Given the description of an element on the screen output the (x, y) to click on. 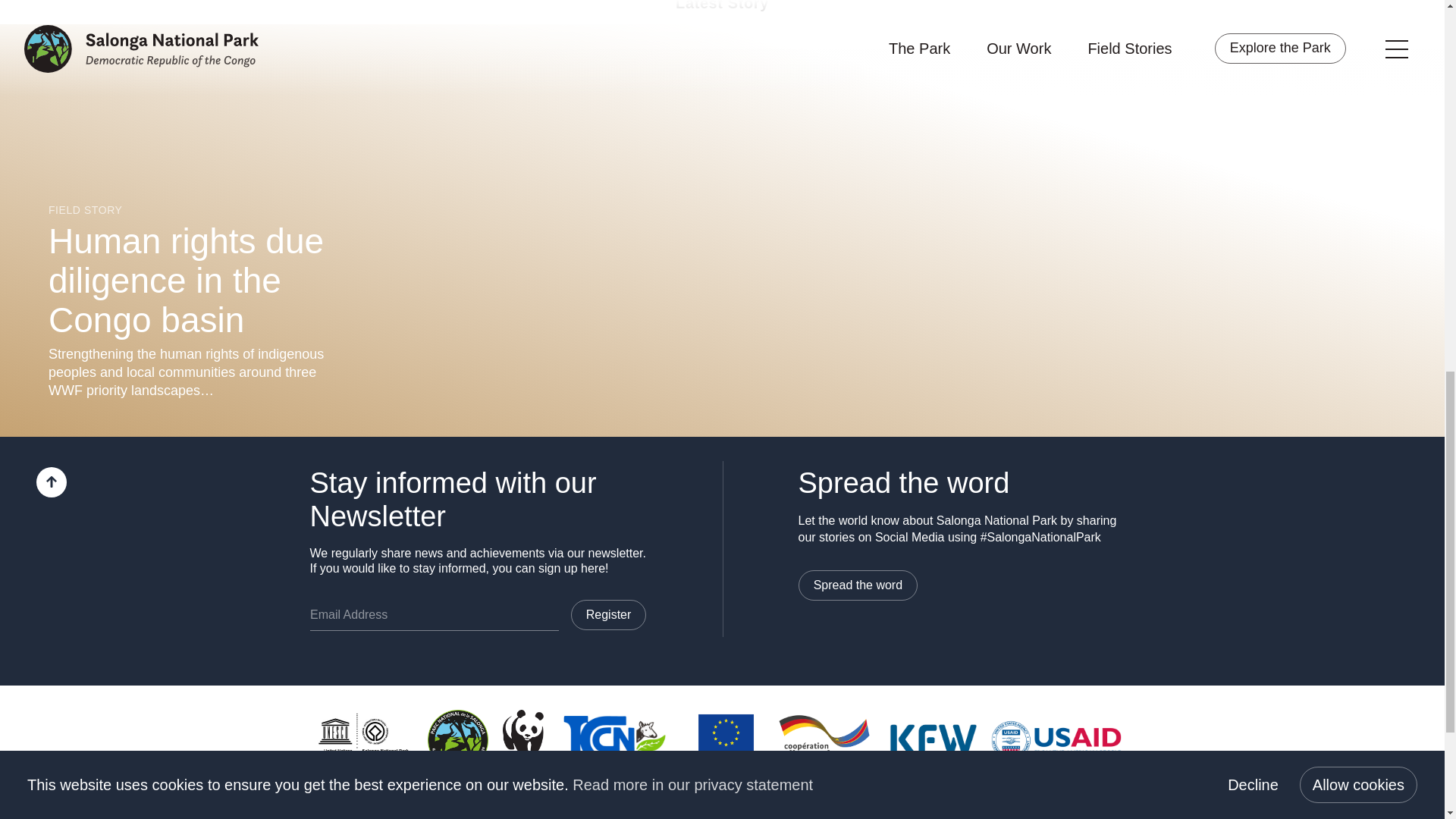
Spread the word (857, 585)
Back up (51, 481)
Register (608, 614)
